Given the description of an element on the screen output the (x, y) to click on. 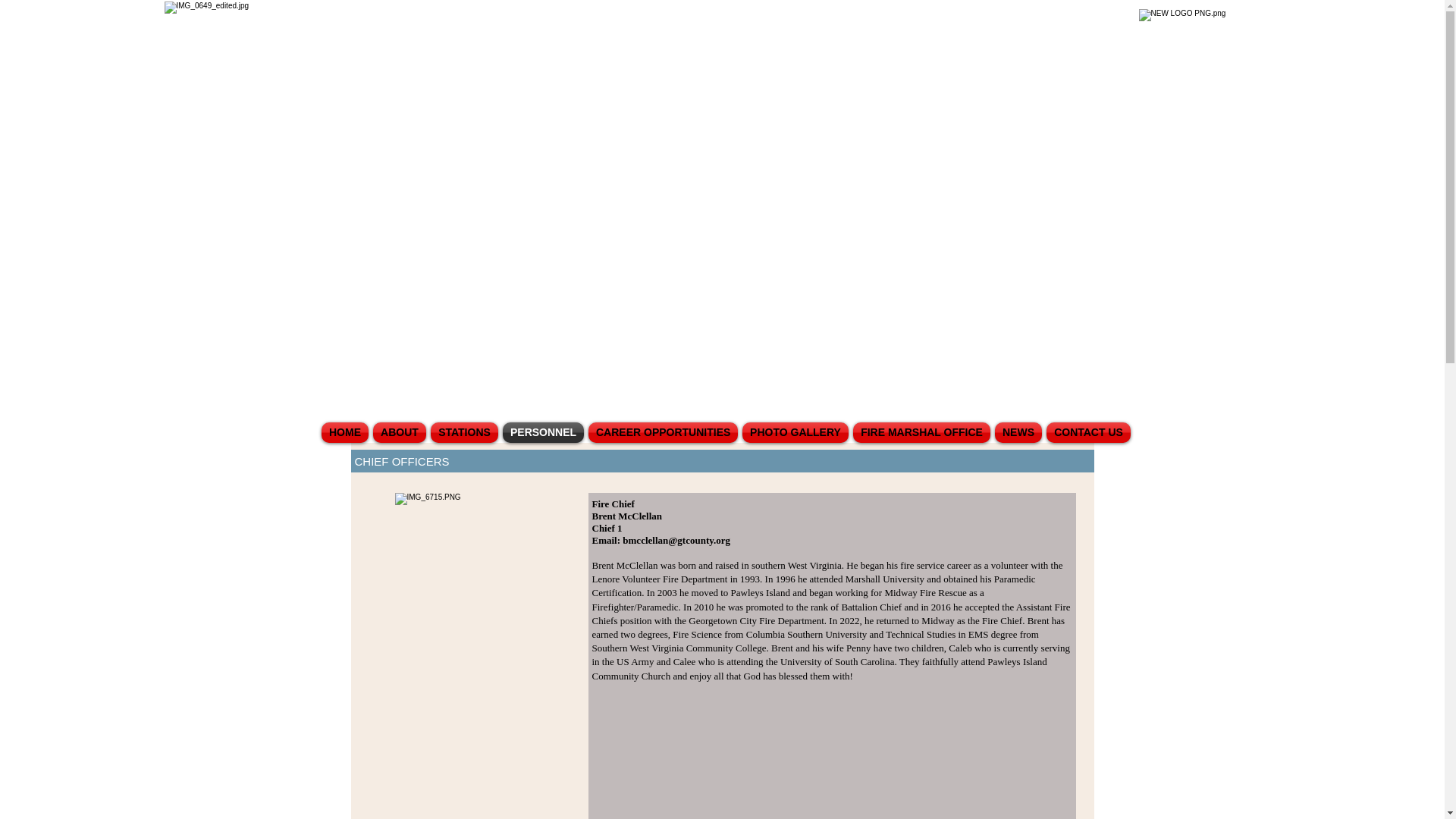
CAREER OPPORTUNITIES (662, 432)
ABOUT (399, 432)
PHOTO GALLERY (794, 432)
HOME (344, 432)
FIRE MARSHAL OFFICE (921, 432)
STATIONS (464, 432)
PERSONNEL (543, 432)
NEWS (1017, 432)
CONTACT US (1087, 432)
NEW logo clear.png (1204, 89)
